Given the description of an element on the screen output the (x, y) to click on. 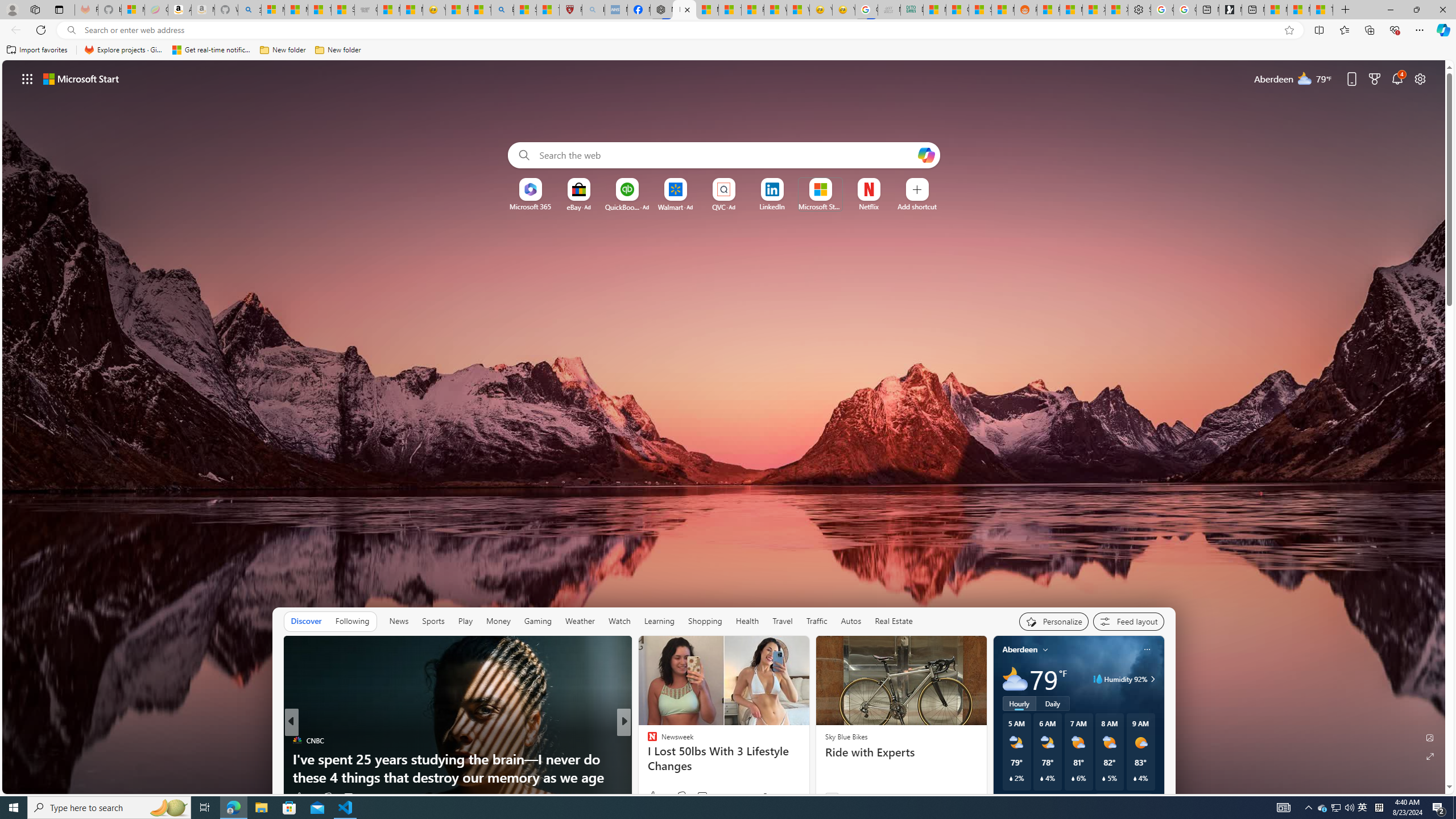
20 Myths That Science Has Finally Disproved (807, 777)
Netflix (869, 206)
Mostly cloudy (1014, 678)
Favorites bar (728, 49)
View comments 17 Comment (704, 796)
Morning Carpool (647, 758)
View comments 3 Comment (698, 797)
